Given the description of an element on the screen output the (x, y) to click on. 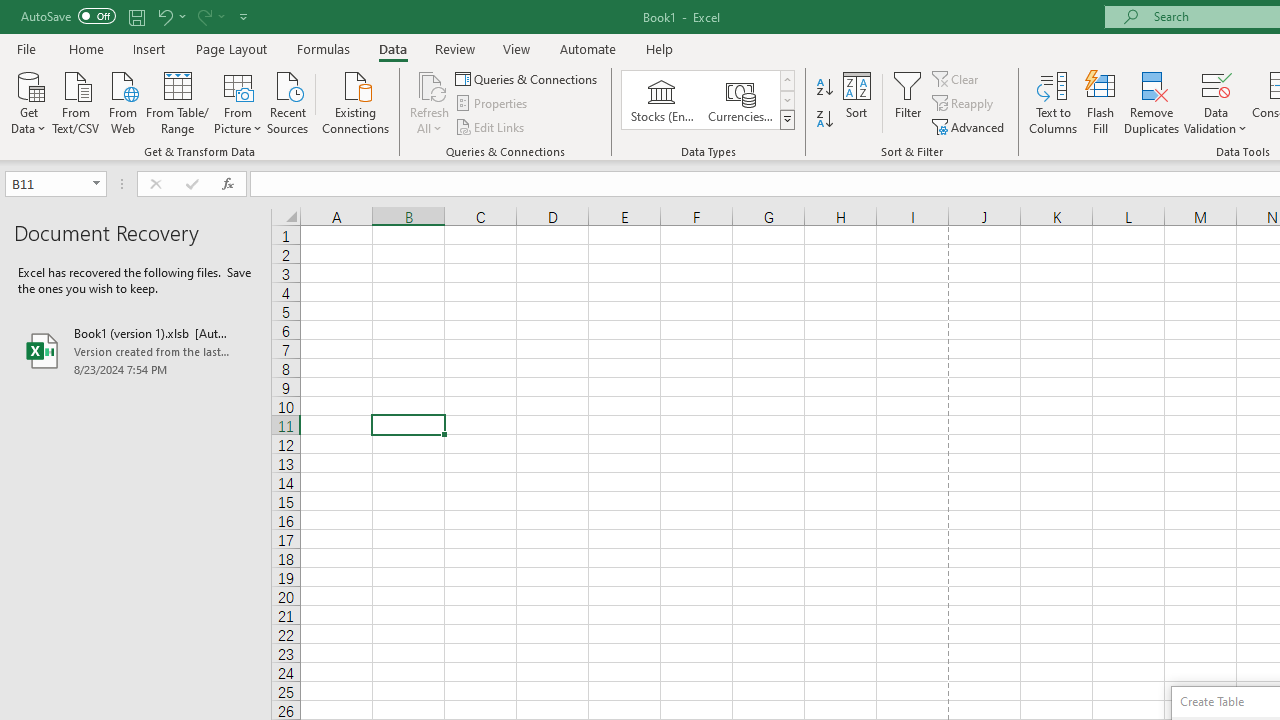
Edit Links (491, 126)
AutomationID: ConvertToLinkedEntity (708, 99)
Sort A to Z (824, 87)
Row Down (786, 100)
Clear (957, 78)
Reapply (964, 103)
Queries & Connections (527, 78)
